Given the description of an element on the screen output the (x, y) to click on. 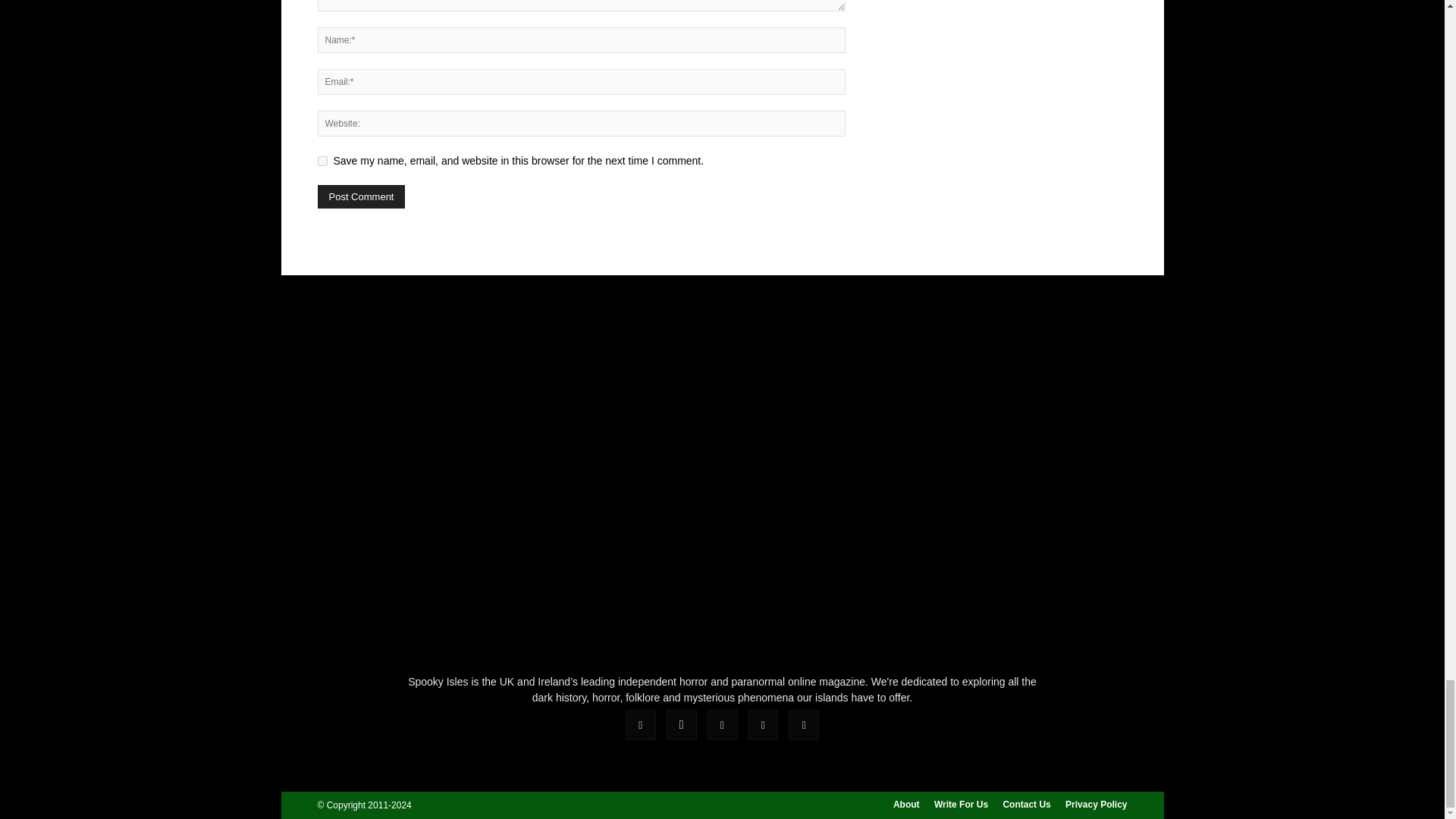
Post Comment (360, 196)
yes (321, 161)
